Given the description of an element on the screen output the (x, y) to click on. 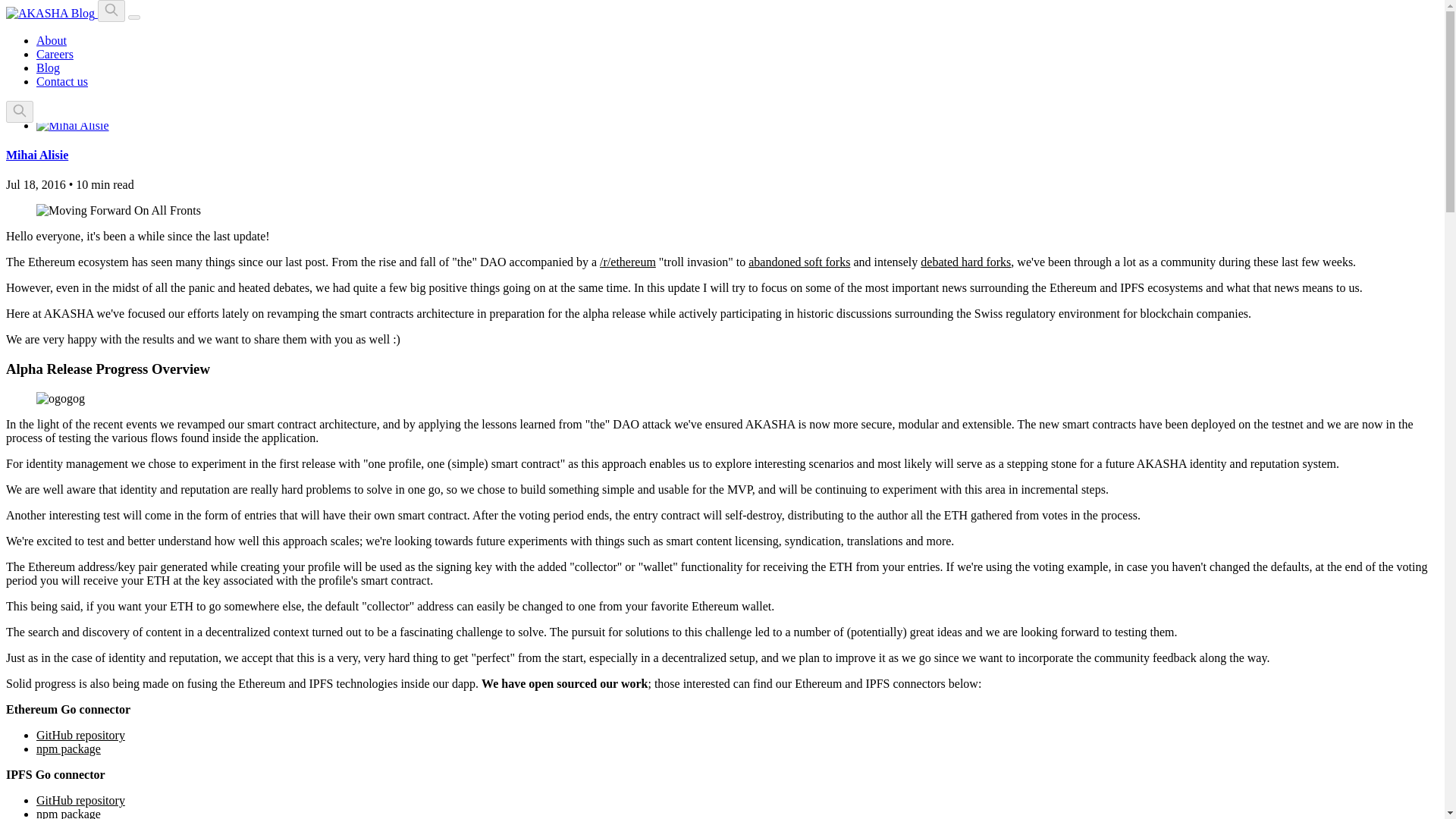
News (19, 60)
npm package (68, 813)
About (51, 40)
GitHub repository (80, 735)
GitHub repository (80, 799)
npm package (68, 748)
Blog (47, 67)
abandoned soft forks (799, 261)
Mihai Alisie (36, 154)
Contact us (61, 81)
Careers (55, 53)
debated hard forks (965, 261)
